Given the description of an element on the screen output the (x, y) to click on. 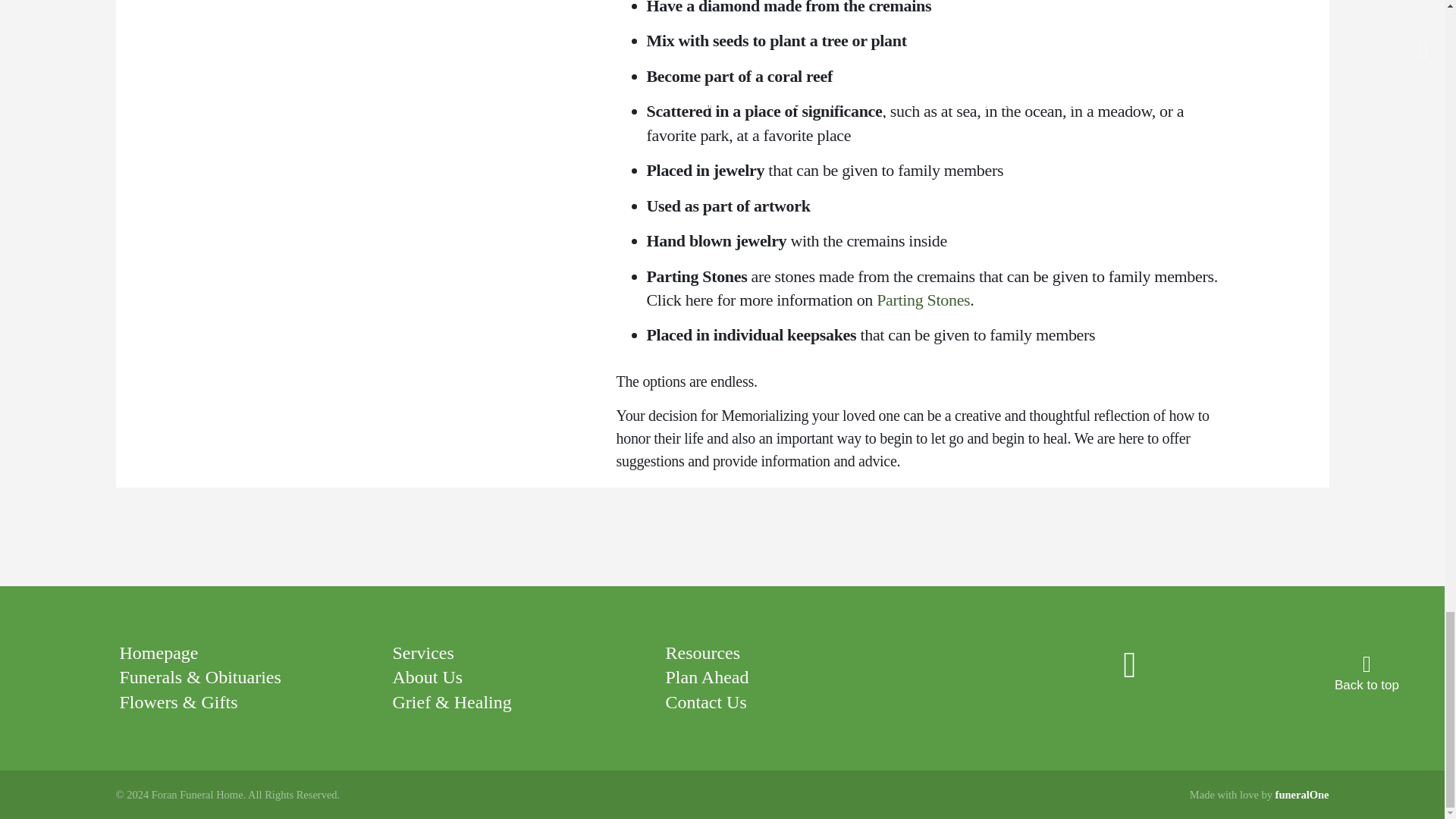
Resources (702, 652)
Parting Stones (922, 299)
Plan Ahead (706, 677)
Services (421, 652)
Homepage (158, 652)
About Us (427, 677)
